Given the description of an element on the screen output the (x, y) to click on. 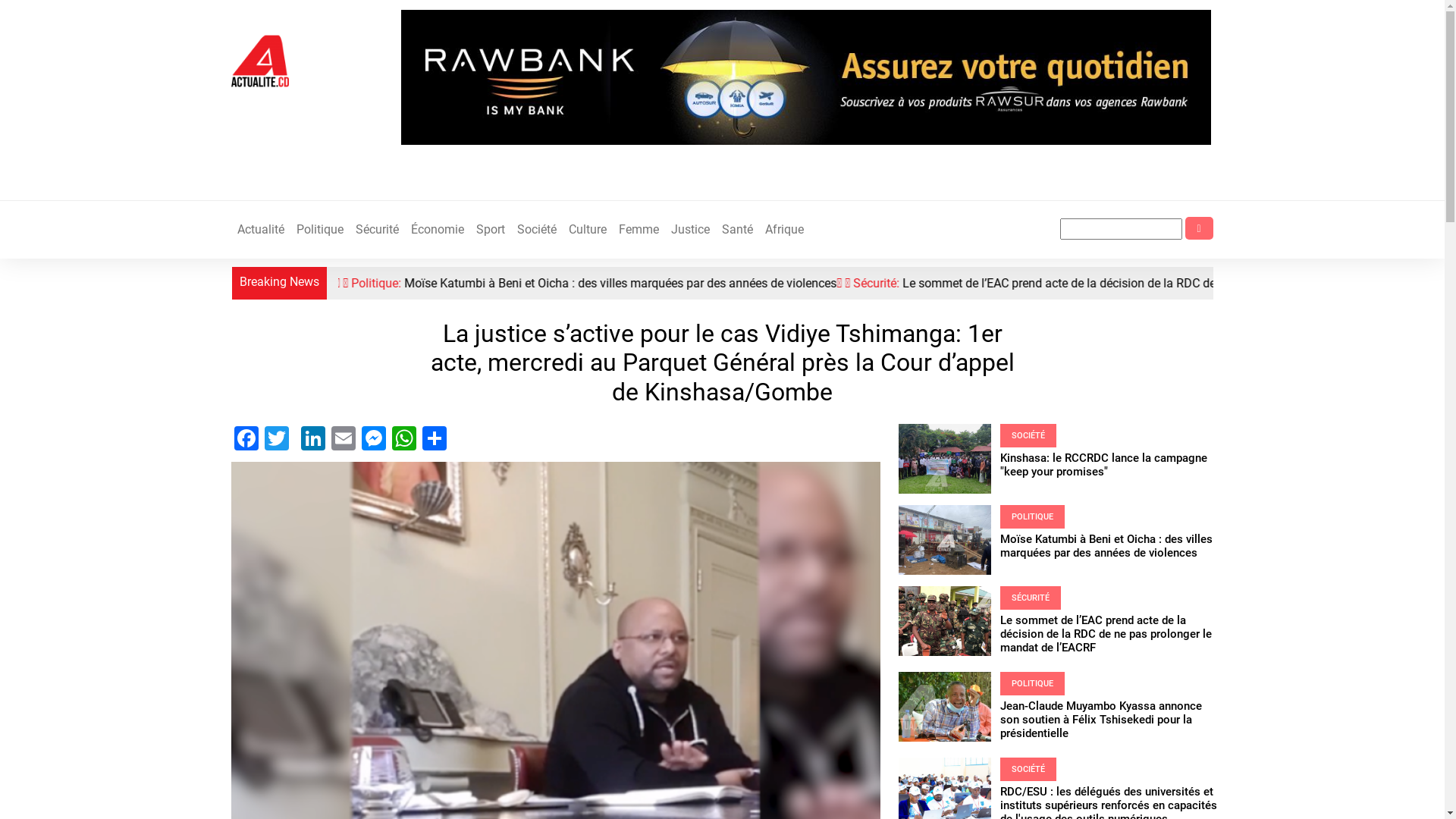
POLITIQUE Element type: text (1032, 516)
POLITIQUE Element type: text (1032, 683)
Twitter Element type: text (275, 436)
Kinshasa: le RCCRDC lance la campagne "keep your promises" Element type: text (346, 283)
Email Element type: text (342, 436)
LinkedIn Element type: text (312, 436)
Messenger Element type: text (372, 436)
Culture Element type: text (587, 229)
Sport Element type: text (490, 229)
Accueil Element type: hover (259, 61)
Facebook Element type: text (245, 436)
Justice Element type: text (689, 229)
Kinshasa: le RCCRDC lance la campagne "keep your promises" Element type: text (1103, 464)
Afrique Element type: text (783, 229)
WhatsApp Element type: text (403, 436)
Share Element type: text (433, 436)
Femme Element type: text (638, 229)
Politique Element type: text (318, 229)
